Given the description of an element on the screen output the (x, y) to click on. 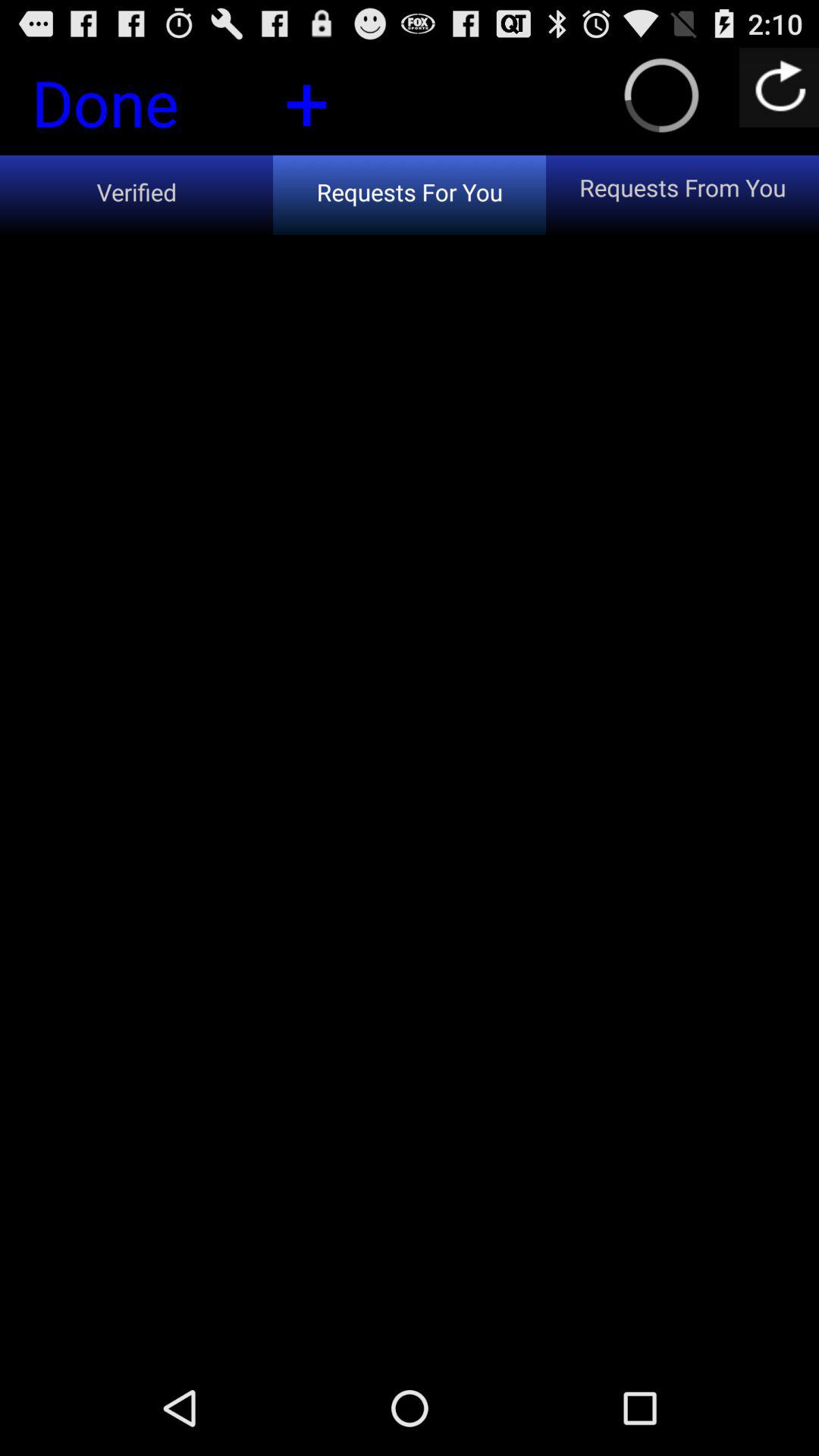
click icon to the left of the + item (130, 107)
